Given the description of an element on the screen output the (x, y) to click on. 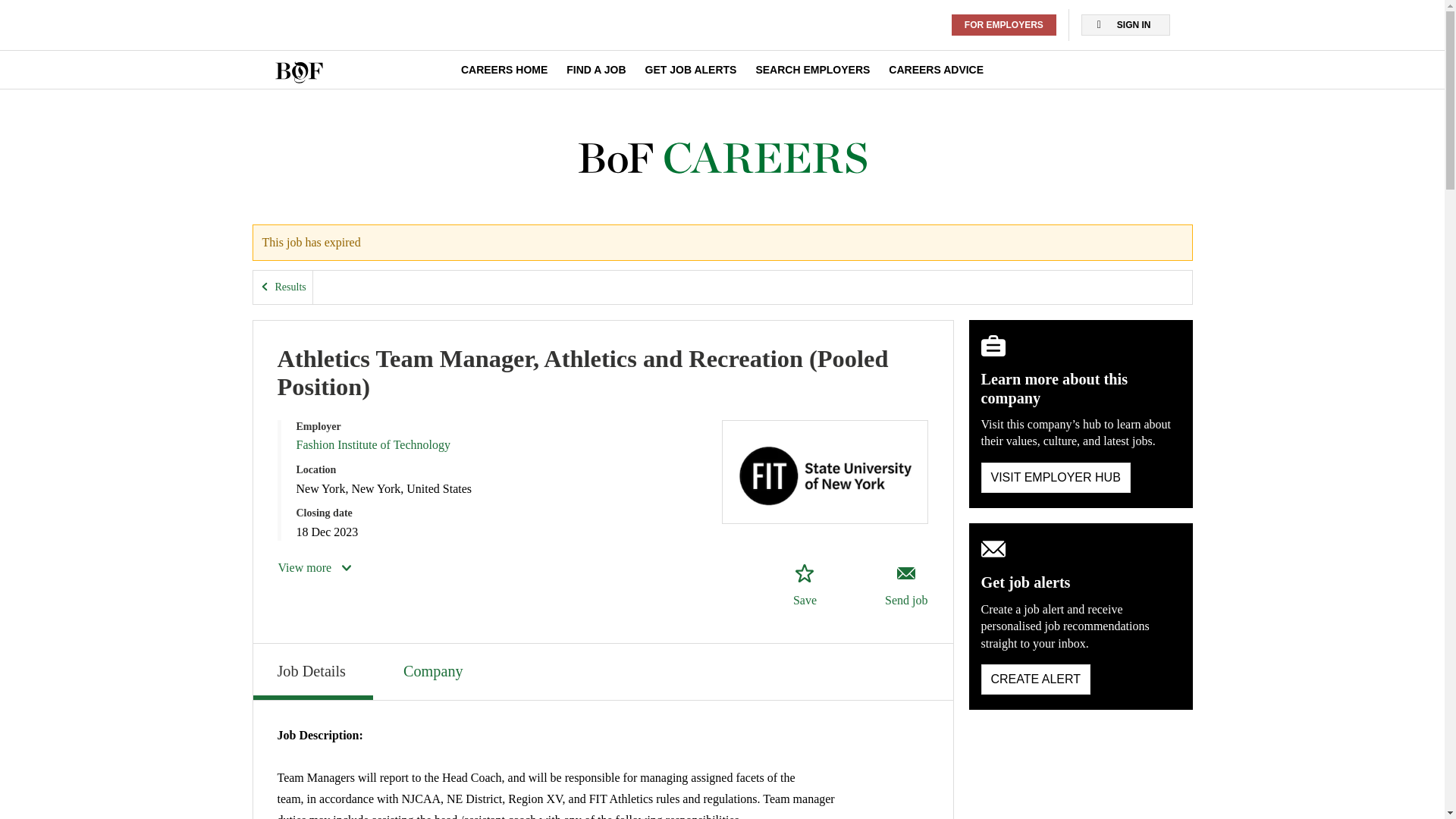
CAREERS ADVICE (936, 69)
SIGN IN (1125, 25)
BoF Careers (722, 158)
SEARCH EMPLOYERS (812, 69)
Job Details (312, 671)
Fashion Institute of Technology (372, 444)
VISIT EMPLOYER HUB (1056, 477)
CREATE ALERT (1035, 679)
View more (315, 567)
GET JOB ALERTS (690, 69)
FIND A JOB (596, 69)
CAREERS HOME (504, 69)
Company (434, 669)
FOR EMPLOYERS (1004, 25)
Results (283, 287)
